Given the description of an element on the screen output the (x, y) to click on. 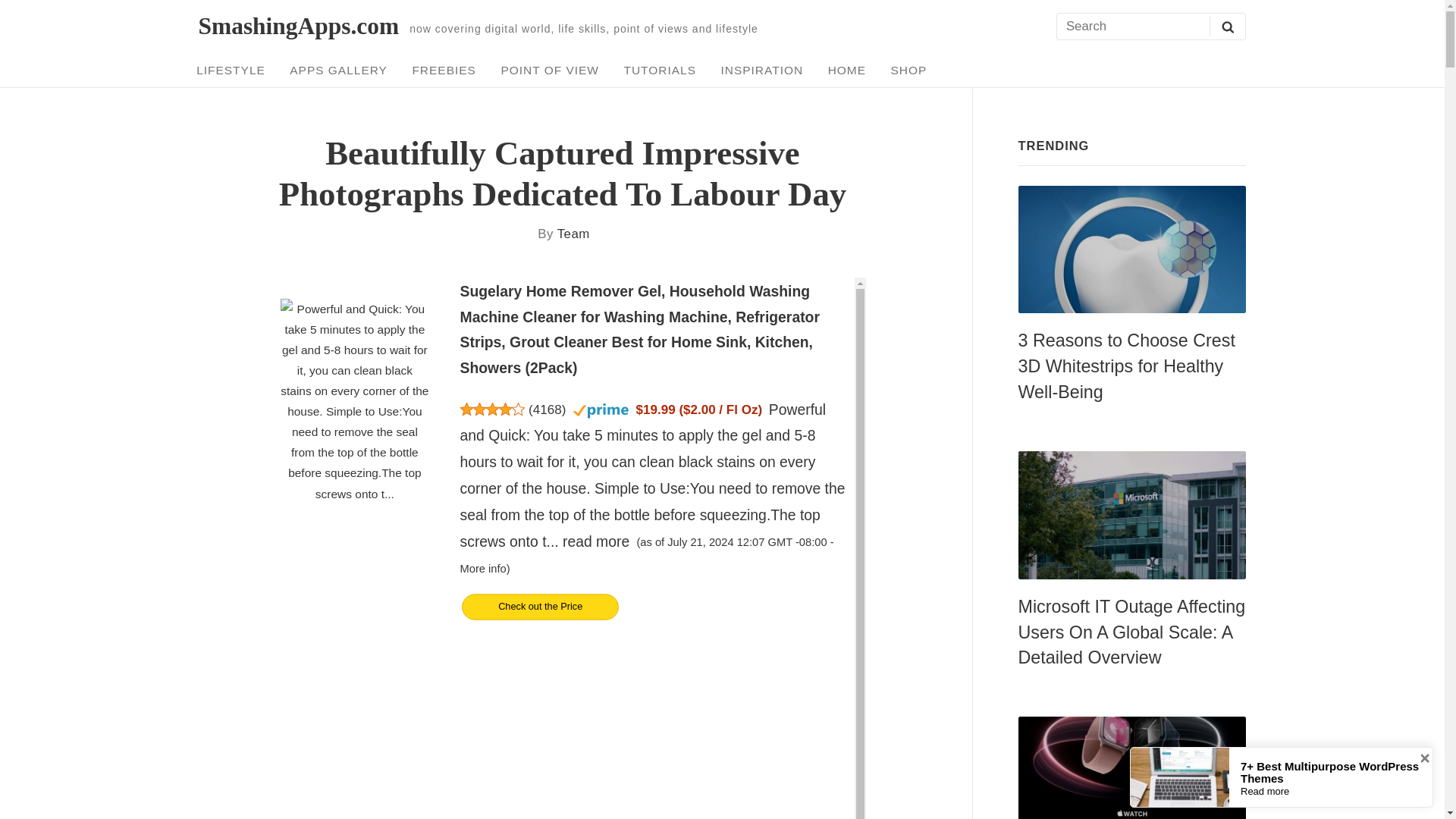
APPS GALLERY (338, 69)
read more (595, 541)
Advertisement (561, 729)
SEARCH (1226, 25)
HOME (846, 69)
TUTORIALS (659, 69)
Check out the Price (655, 622)
More info (483, 568)
Search for: (1149, 26)
SmashingApps.com (298, 25)
FREEBIES (443, 69)
4168 (547, 409)
SHOP (908, 69)
INSPIRATION (761, 69)
Team (573, 233)
